Given the description of an element on the screen output the (x, y) to click on. 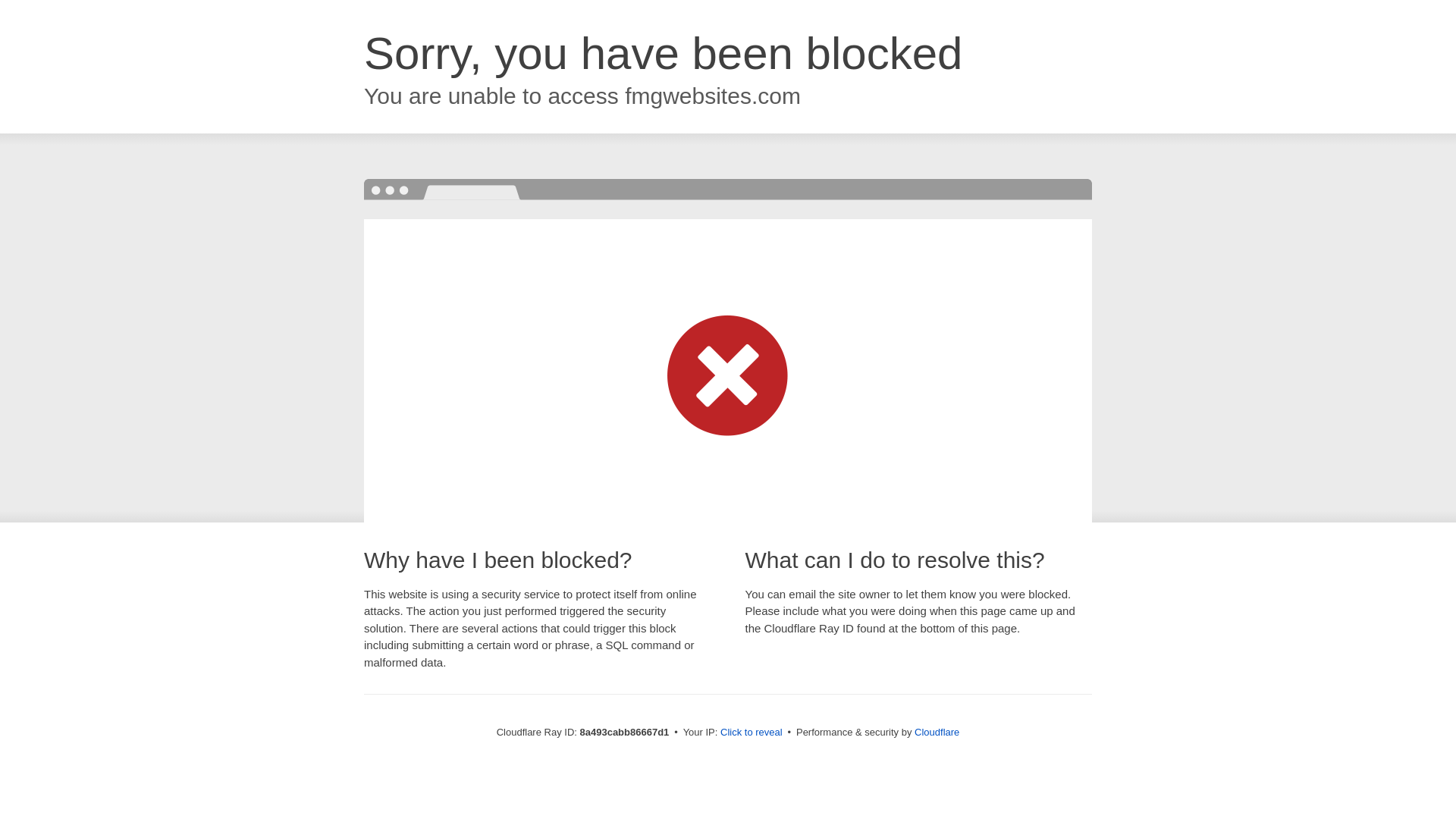
Cloudflare (936, 731)
Click to reveal (751, 732)
